Given the description of an element on the screen output the (x, y) to click on. 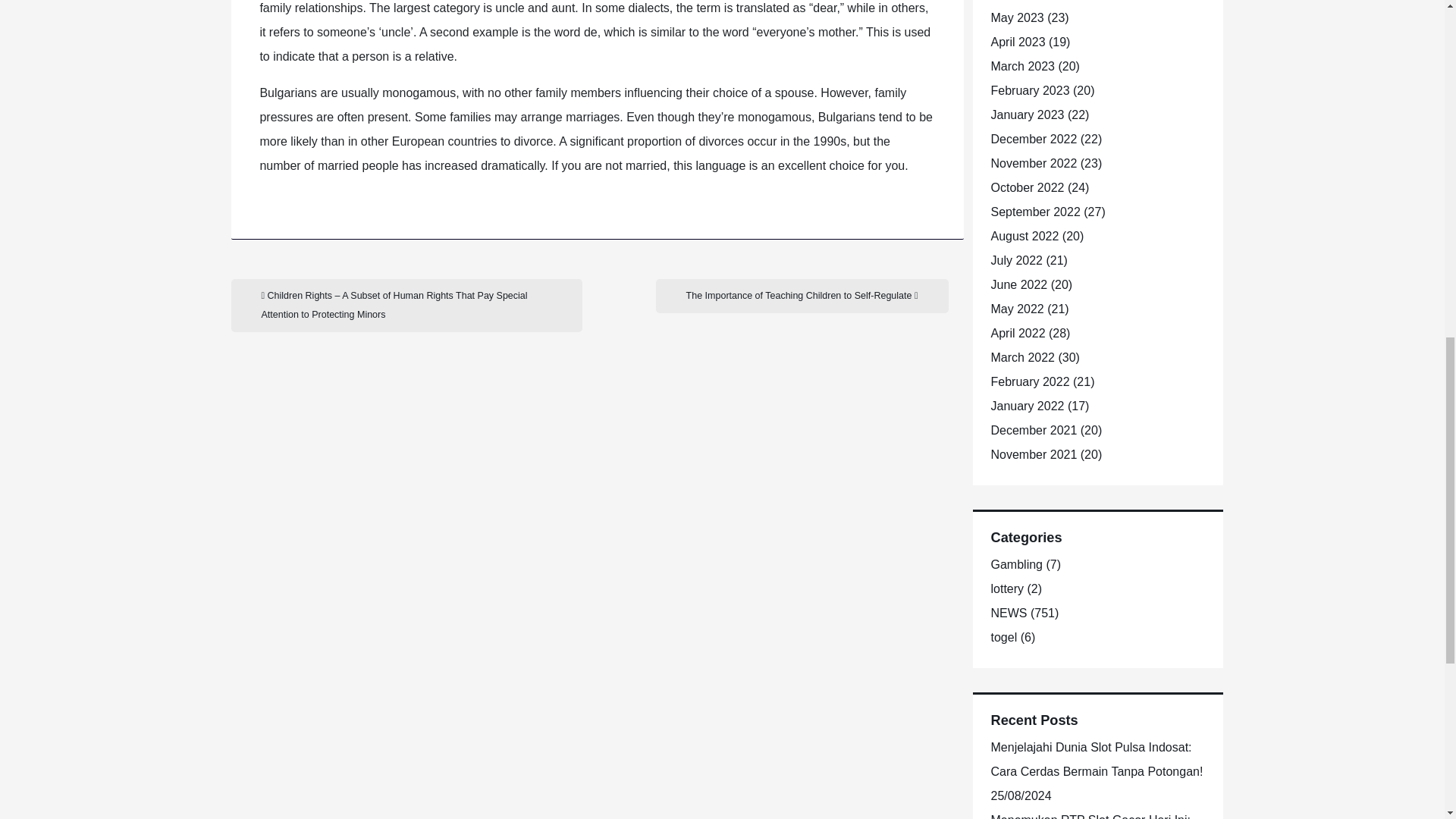
February 2023 (1029, 90)
September 2022 (1035, 211)
October 2022 (1027, 187)
May 2023 (1016, 17)
June 2022 (1018, 284)
April 2023 (1017, 42)
March 2023 (1022, 65)
July 2022 (1016, 259)
May 2022 (1016, 308)
November 2022 (1033, 163)
